Given the description of an element on the screen output the (x, y) to click on. 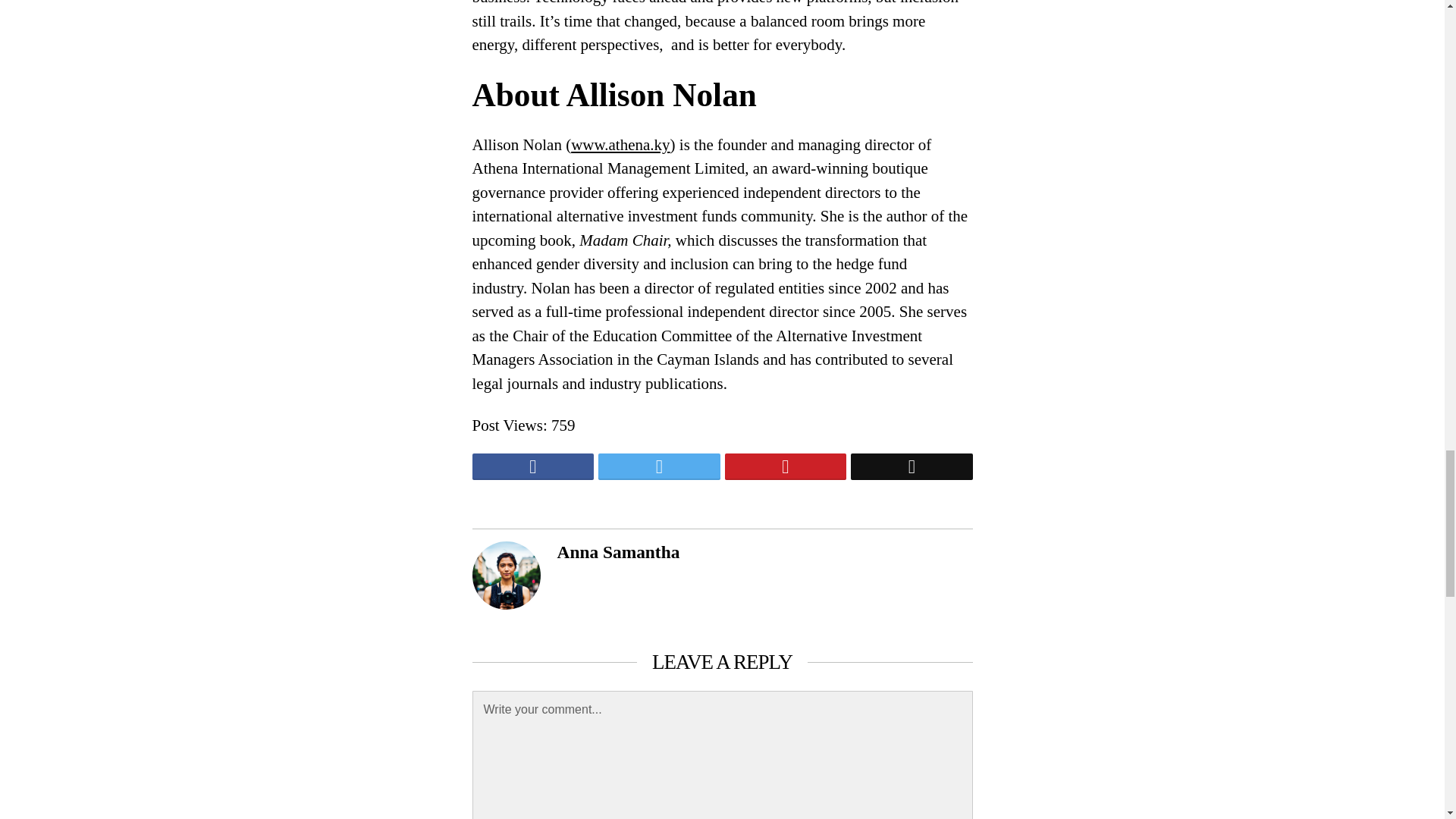
www.athena.ky (619, 144)
Anna Samantha (617, 551)
